Given the description of an element on the screen output the (x, y) to click on. 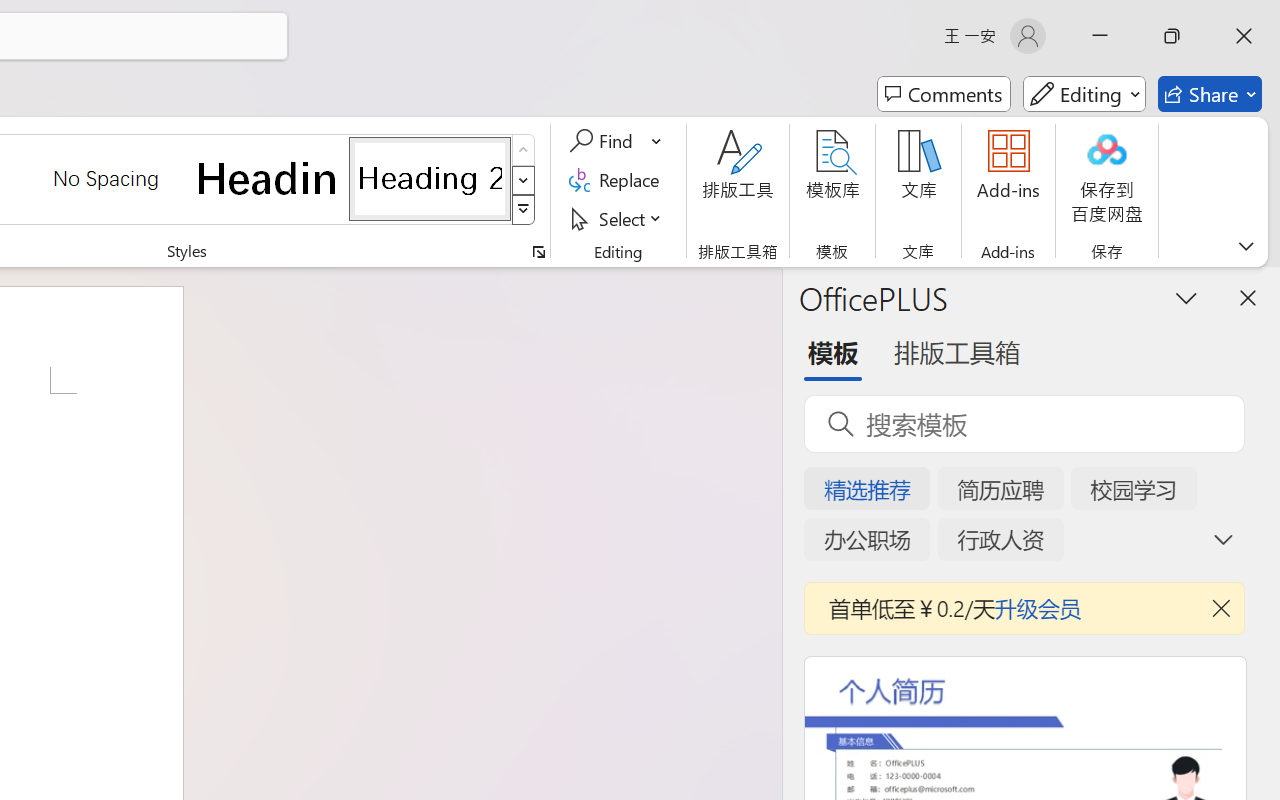
Alt Text (1260, 334)
New comment (967, 244)
